Given the description of an element on the screen output the (x, y) to click on. 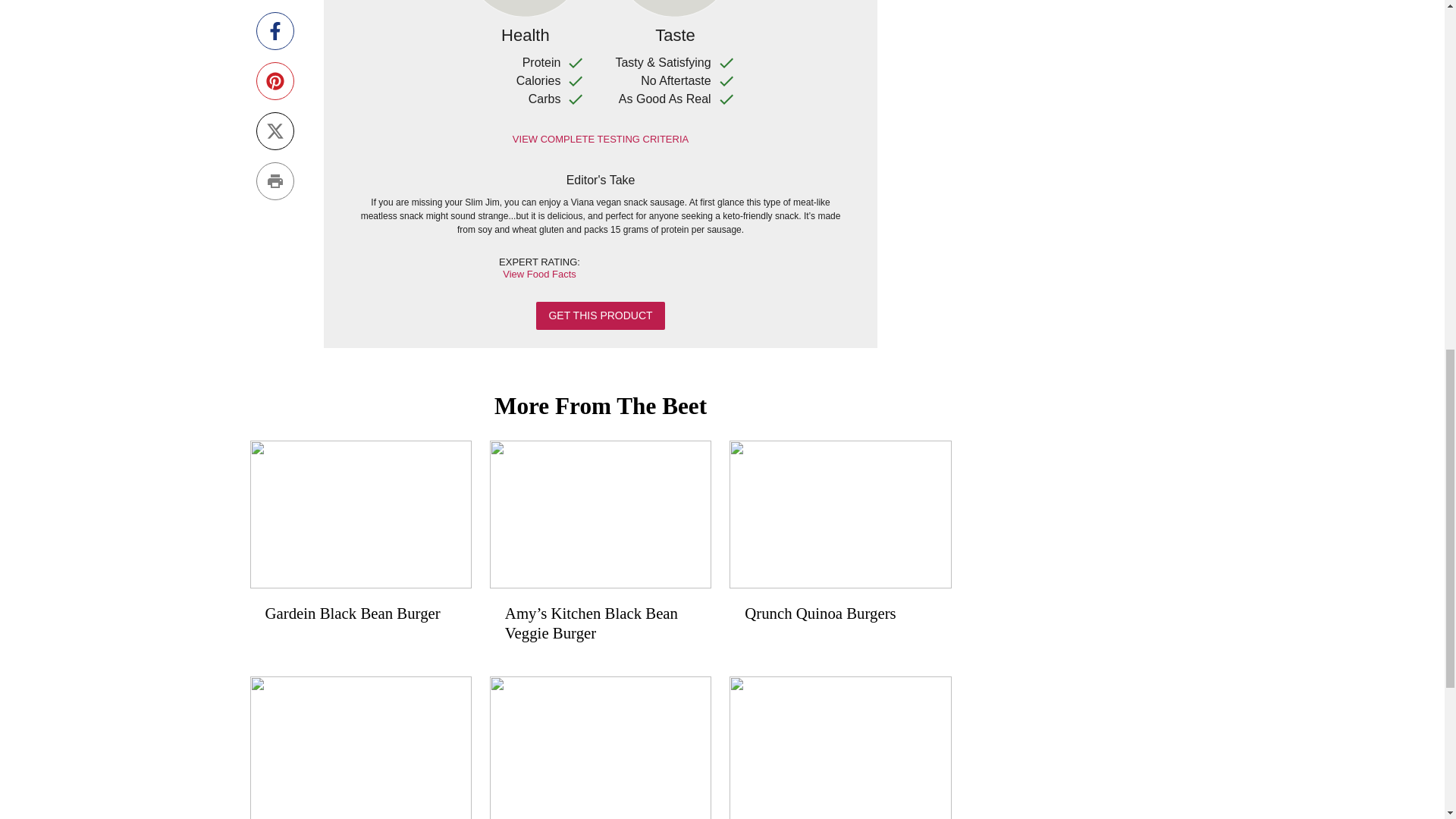
Wholly Veggie! Vegan Margherita Pizza (600, 747)
VIEW COMPLETE TESTING CRITERIA (600, 139)
Gardein Black Bean Burger (360, 539)
Qrunch Quinoa Burgers (839, 549)
Qrunch Quinoa Burgers (839, 539)
GET THIS PRODUCT (599, 316)
View Food Facts (539, 274)
Wholly Veggie! Vegan Margherita Pizza (600, 747)
Gardein Black Bean Burger (360, 549)
